Given the description of an element on the screen output the (x, y) to click on. 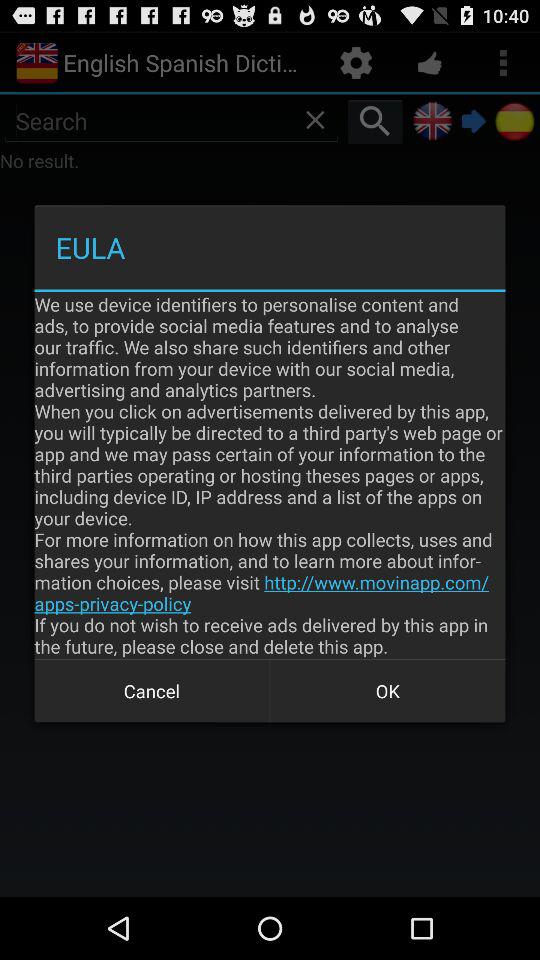
launch the app below the we use device (151, 690)
